Given the description of an element on the screen output the (x, y) to click on. 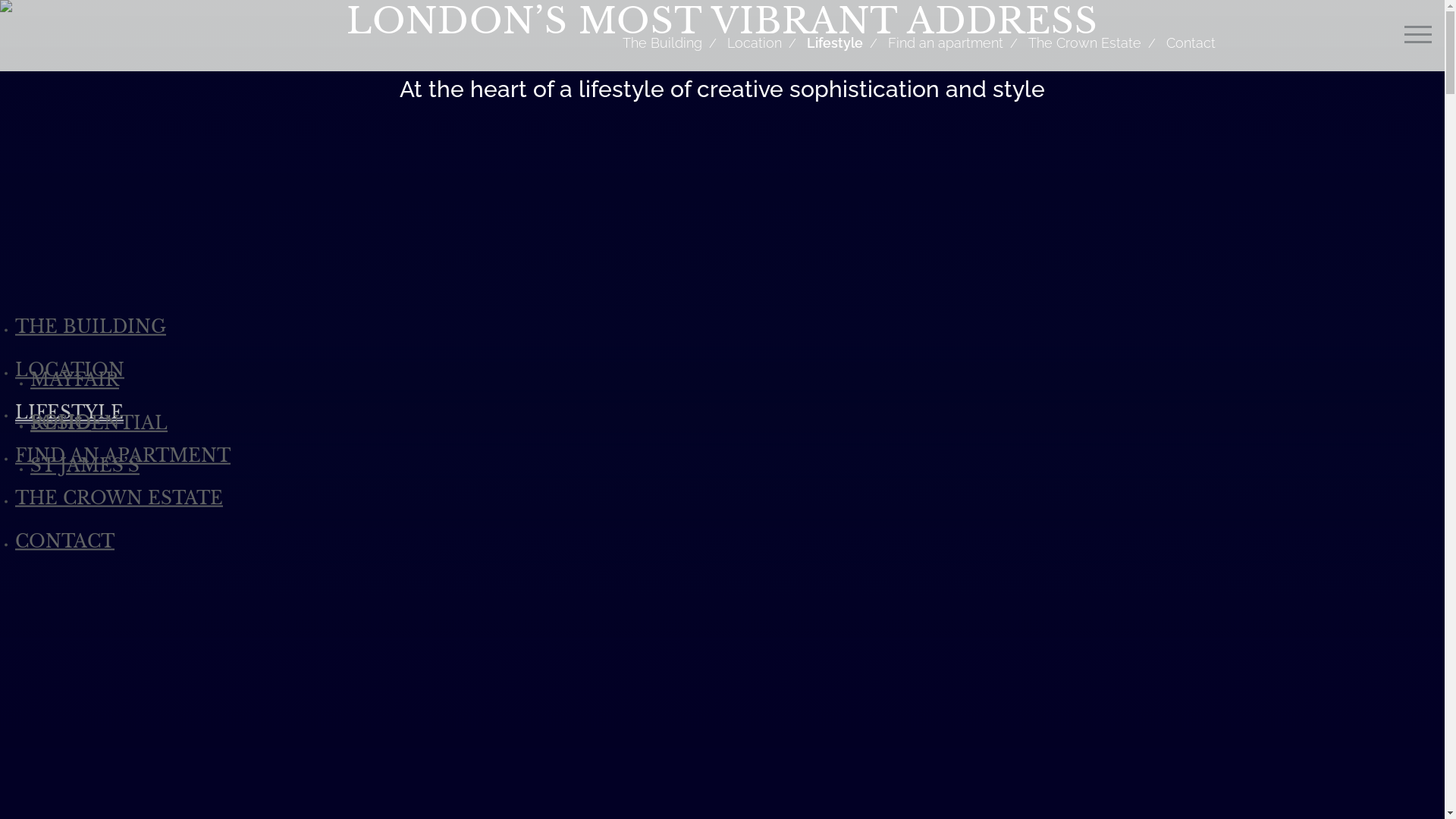
THE CROWN ESTATE Element type: text (118, 497)
Contact Element type: text (1184, 42)
LOCATION Element type: text (69, 368)
THE BUILDING Element type: text (90, 325)
SOHO Element type: text (60, 422)
The Crown Estate Element type: text (1083, 42)
Lifestyle Element type: text (833, 42)
Location Element type: text (754, 42)
RESIDENTIAL Element type: text (98, 422)
MAYFAIR Element type: text (74, 379)
FIND AN APARTMENT Element type: text (122, 454)
LIFESTYLE Element type: text (69, 412)
Find an apartment Element type: text (945, 42)
CONTACT Element type: text (64, 540)
The Building Element type: text (662, 42)
